Given the description of an element on the screen output the (x, y) to click on. 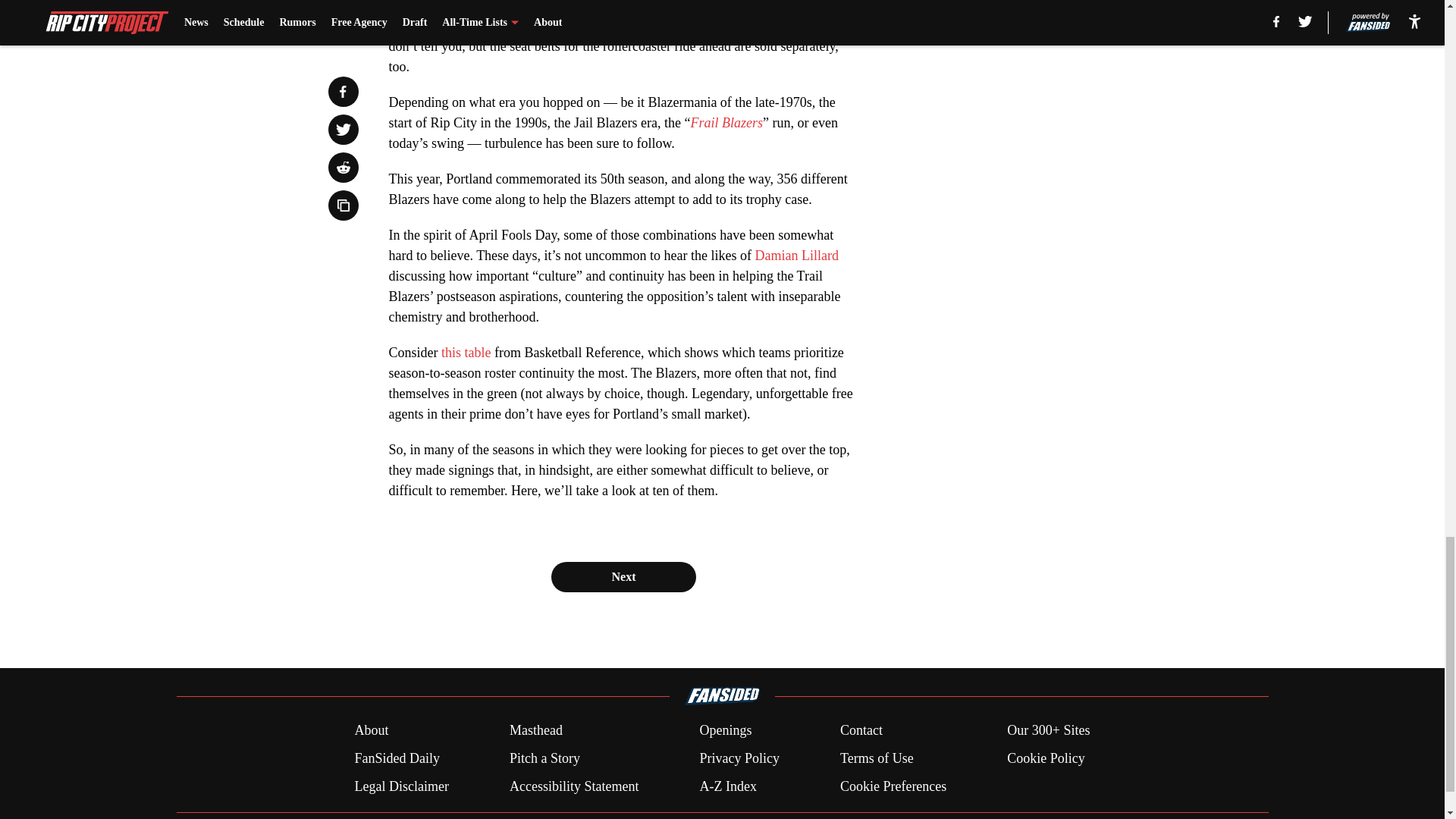
Contact (861, 730)
About (370, 730)
this table (466, 352)
Openings (724, 730)
Next (622, 576)
Damian Lillard (796, 255)
Frail Blazers (726, 122)
Masthead (535, 730)
